Given the description of an element on the screen output the (x, y) to click on. 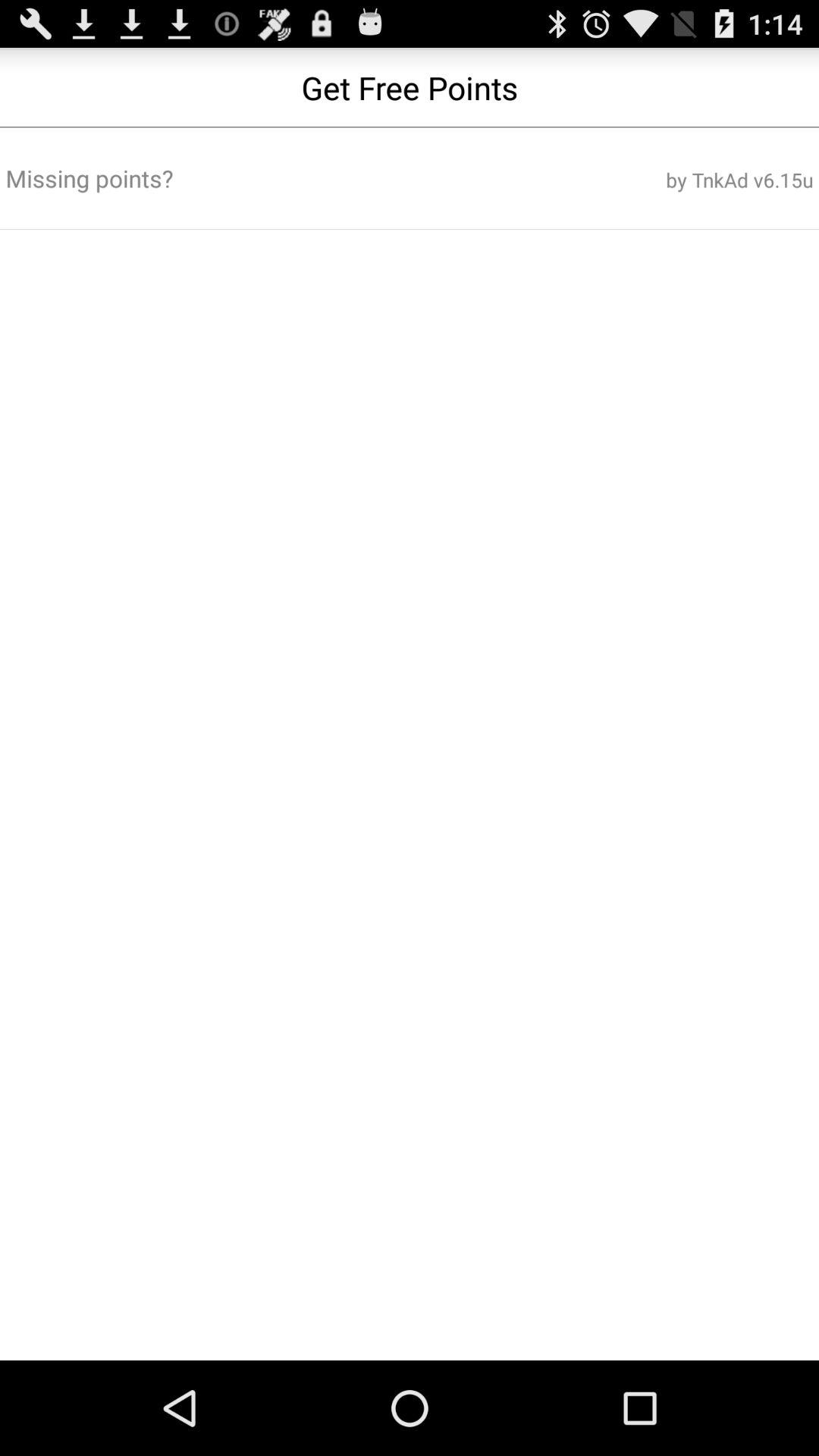
turn off the icon to the right of the missing points? icon (677, 180)
